Given the description of an element on the screen output the (x, y) to click on. 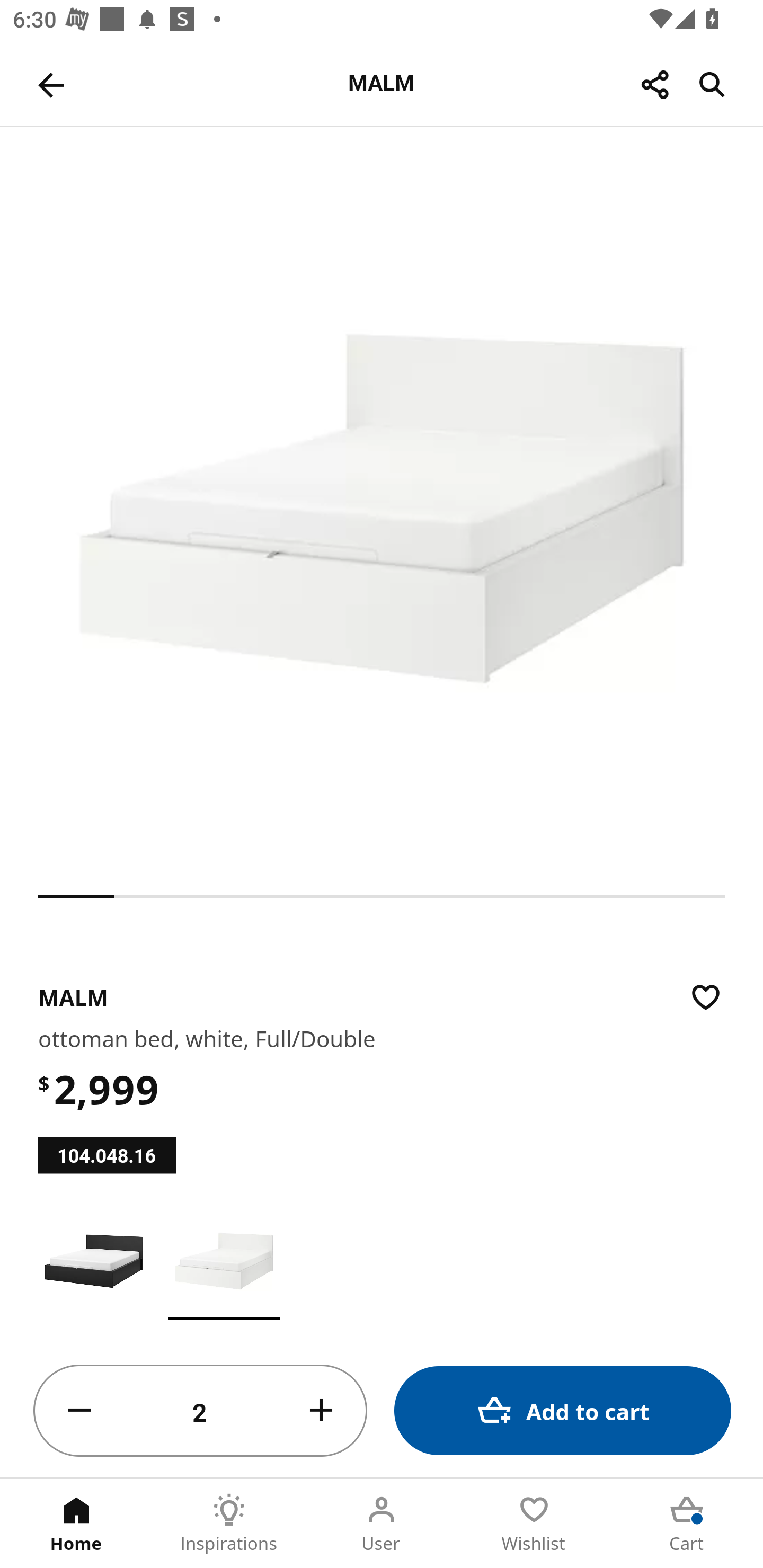
Add to cart (562, 1410)
2 (200, 1411)
Home
Tab 1 of 5 (76, 1522)
Inspirations
Tab 2 of 5 (228, 1522)
User
Tab 3 of 5 (381, 1522)
Wishlist
Tab 4 of 5 (533, 1522)
Cart
Tab 5 of 5 (686, 1522)
